Given the description of an element on the screen output the (x, y) to click on. 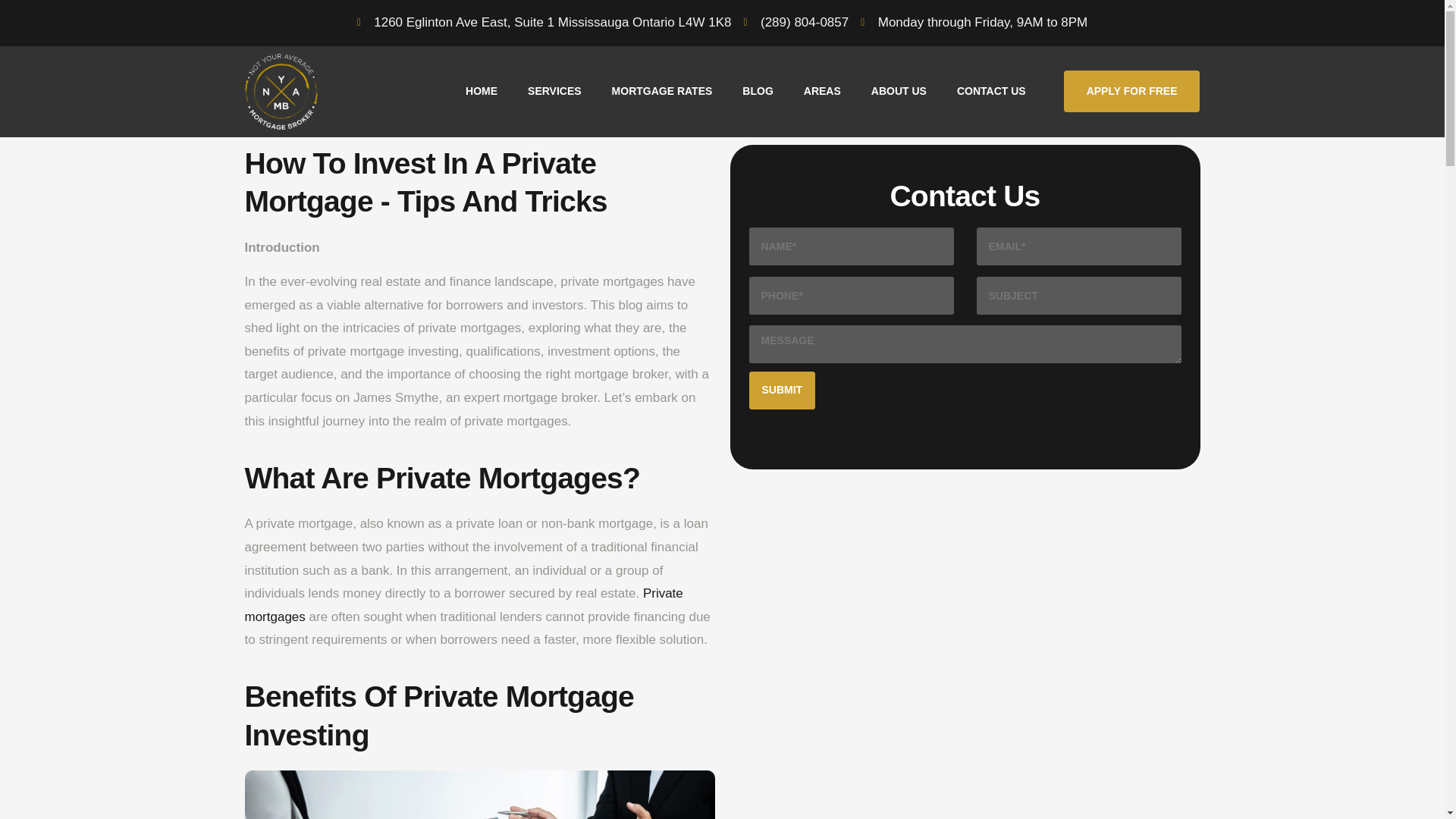
Submit (782, 390)
SERVICES (554, 91)
MORTGAGE RATES (662, 91)
ABOUT US (899, 91)
CONTACT US (991, 91)
AREAS (822, 91)
Contact Us (964, 293)
